Given the description of an element on the screen output the (x, y) to click on. 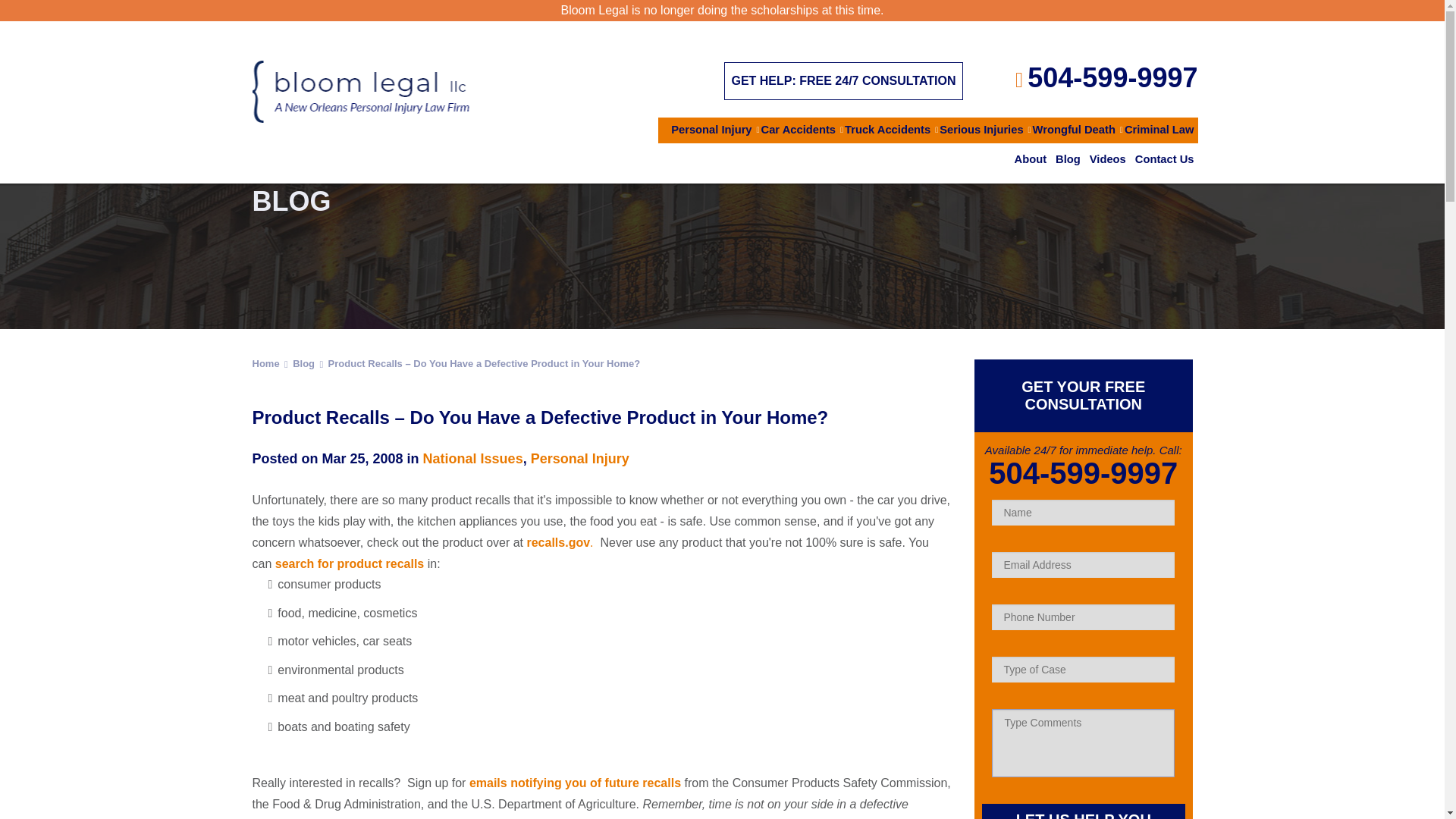
Let Us Help You (1083, 811)
Wrongful Death (1073, 129)
Personal Injury (711, 129)
Car Accidents (798, 129)
Criminal Law (1158, 129)
Truck Accidents (887, 129)
504-599-9997 (1111, 77)
Serious Injuries (981, 129)
